Given the description of an element on the screen output the (x, y) to click on. 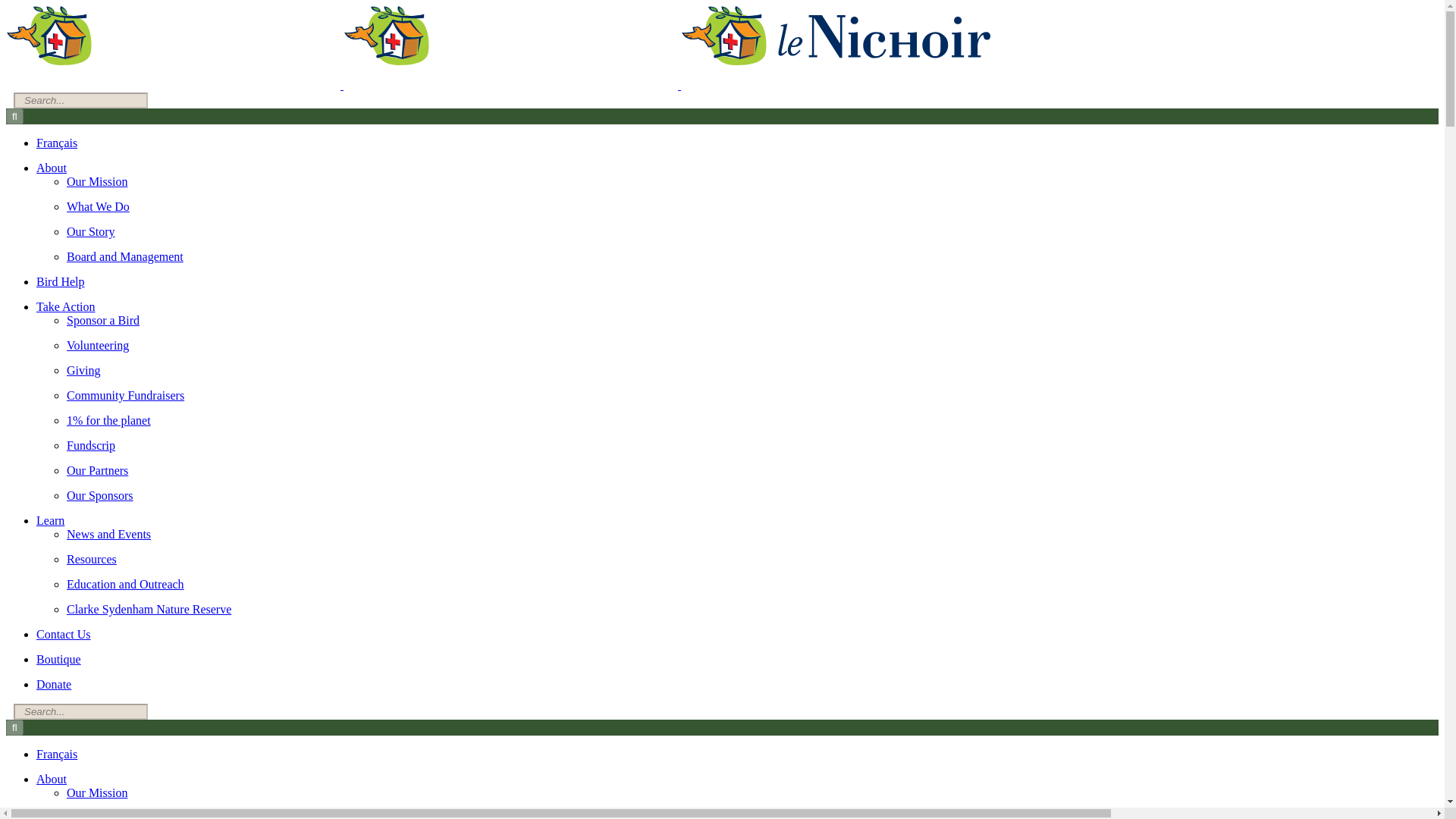
What We Do (97, 205)
Clarke Sydenham Nature Reserve (148, 608)
Education and Outreach (125, 584)
Board and Management (124, 256)
Contact Us (63, 634)
What We Do (97, 815)
Resources (91, 558)
Learn (50, 520)
Donate (53, 684)
Community Fundraisers (125, 395)
News and Events (108, 533)
Our Partners (97, 470)
About (51, 779)
Our Mission (97, 181)
